Given the description of an element on the screen output the (x, y) to click on. 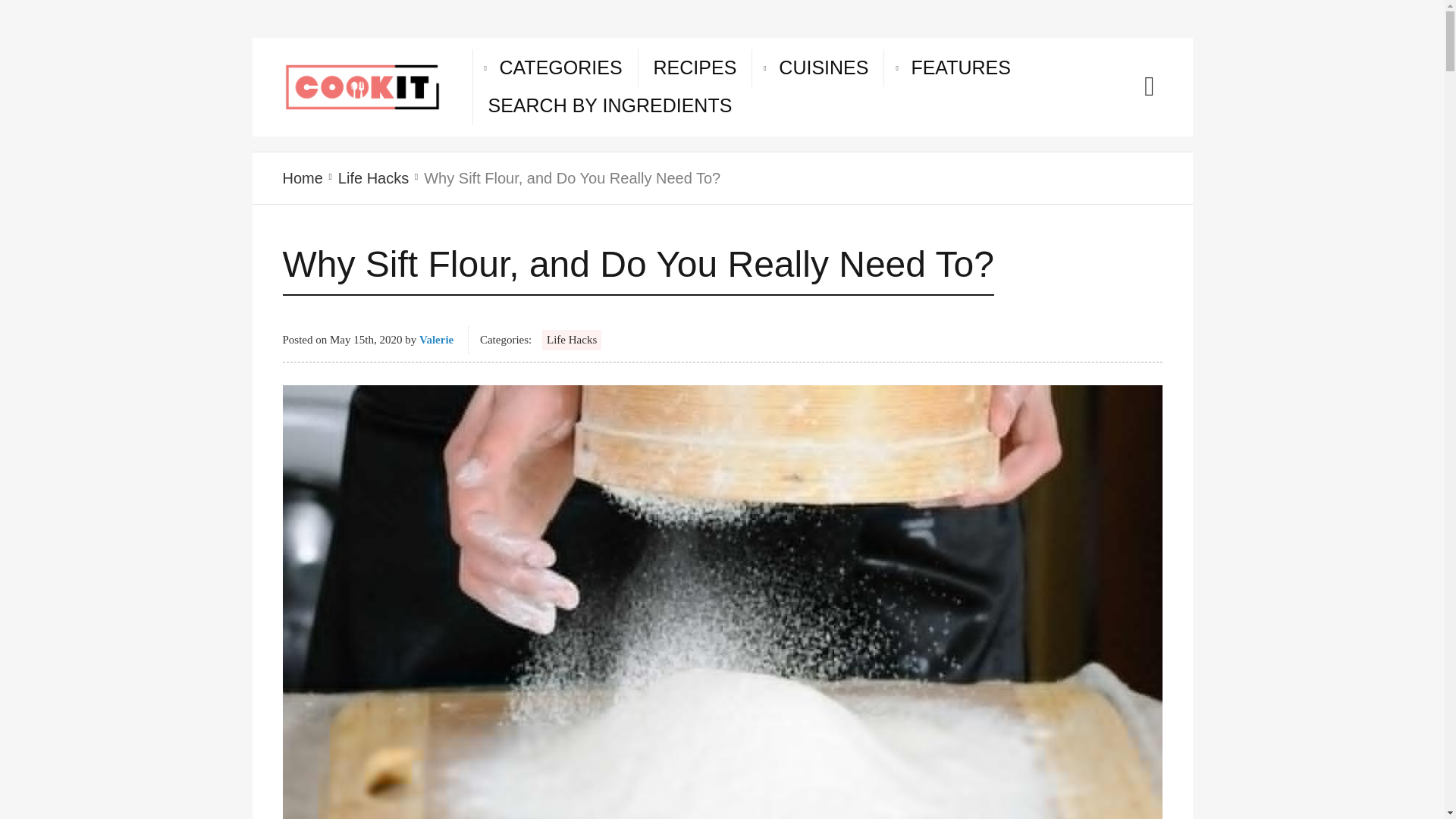
SEARCH BY INGREDIENTS (609, 105)
RECIPES (694, 67)
View all posts in Life Hacks (373, 178)
CUISINES (822, 67)
FEATURES (960, 67)
CATEGORIES (560, 67)
